Given the description of an element on the screen output the (x, y) to click on. 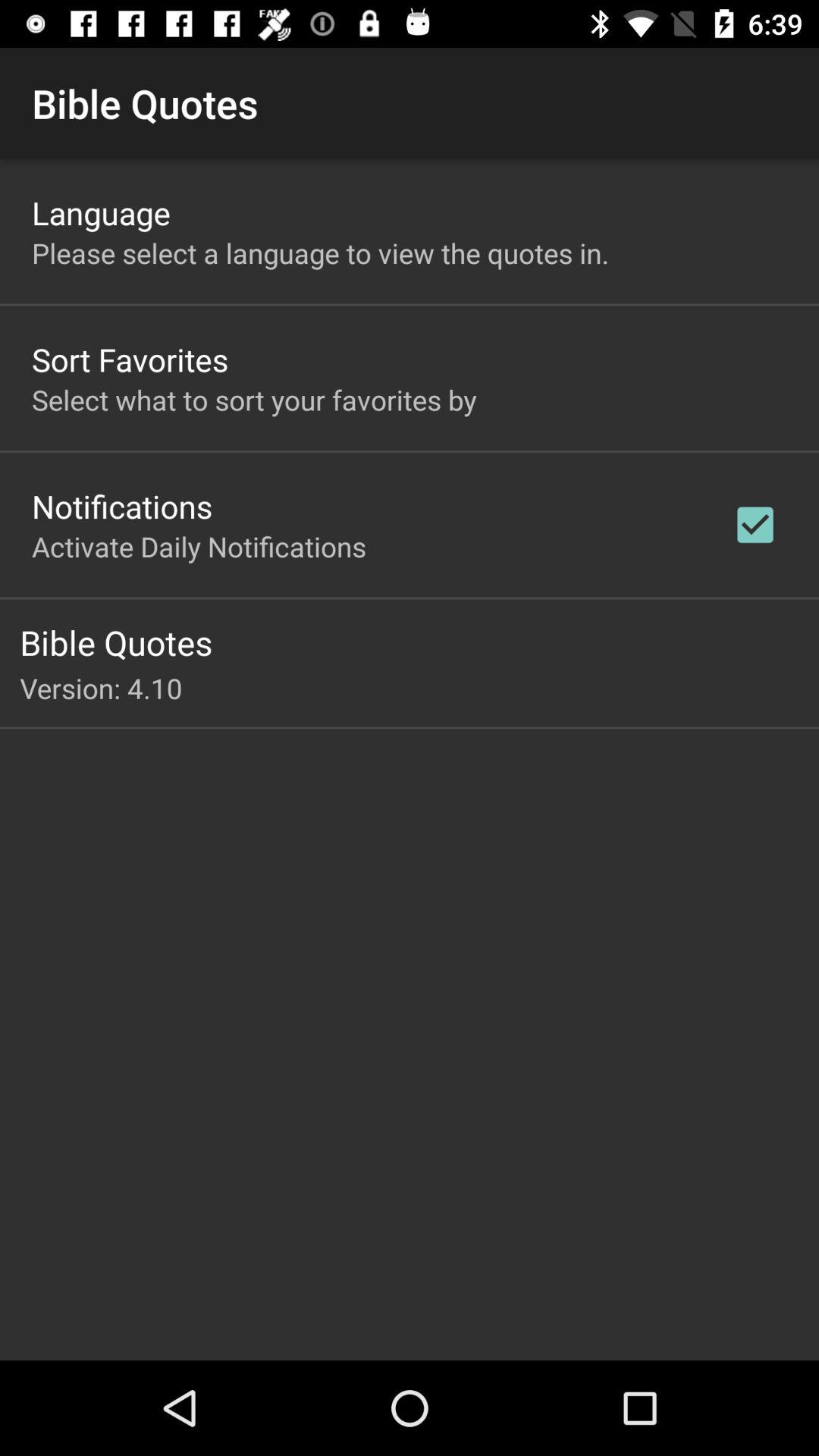
click the icon below language item (320, 252)
